Given the description of an element on the screen output the (x, y) to click on. 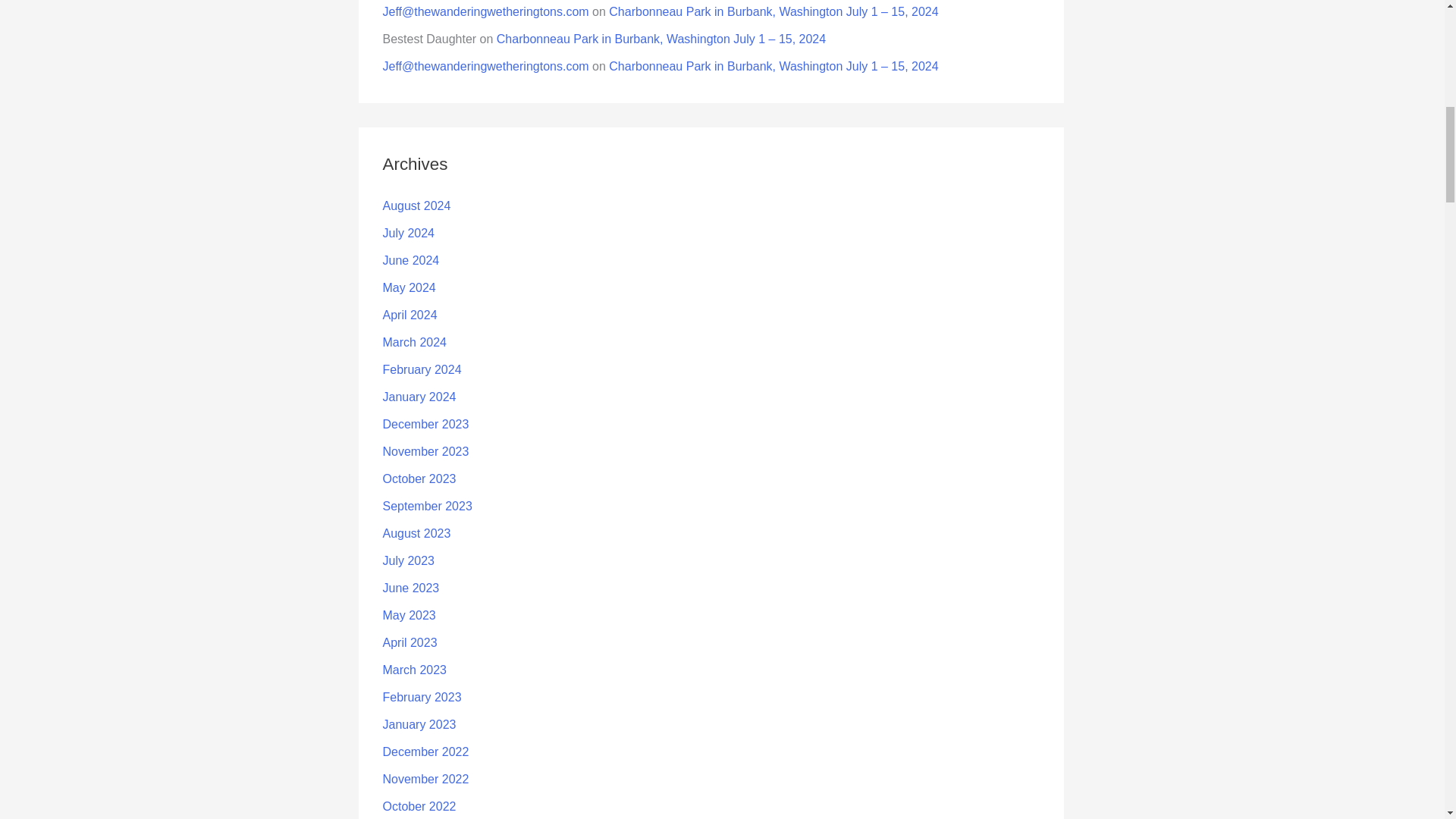
June 2023 (410, 587)
January 2024 (418, 396)
May 2024 (408, 287)
July 2024 (407, 232)
July 2023 (407, 560)
February 2024 (421, 369)
August 2023 (415, 533)
June 2024 (410, 259)
August 2024 (415, 205)
March 2024 (413, 341)
